Given the description of an element on the screen output the (x, y) to click on. 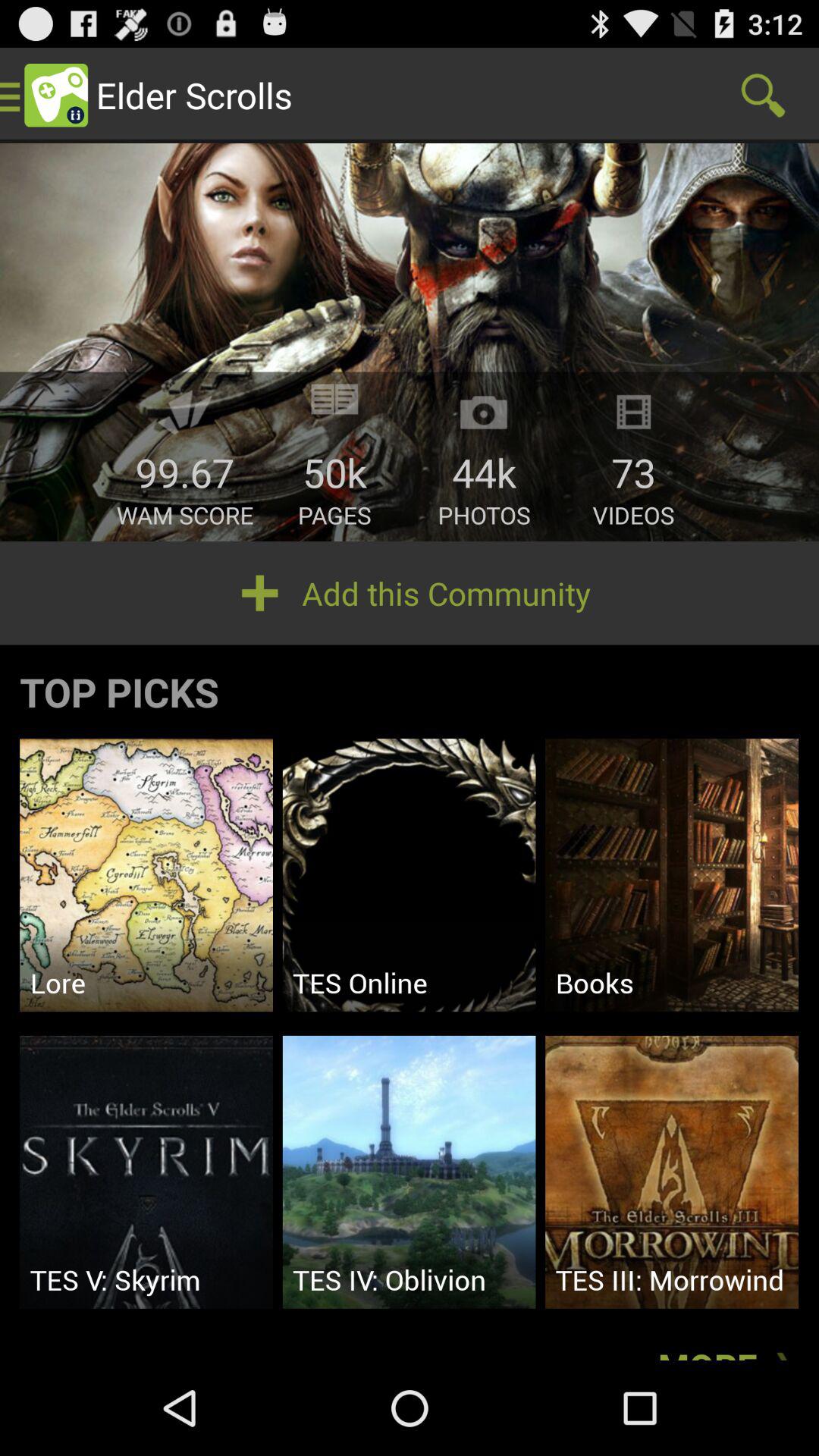
click the app to the right of elder scrolls item (763, 95)
